Given the description of an element on the screen output the (x, y) to click on. 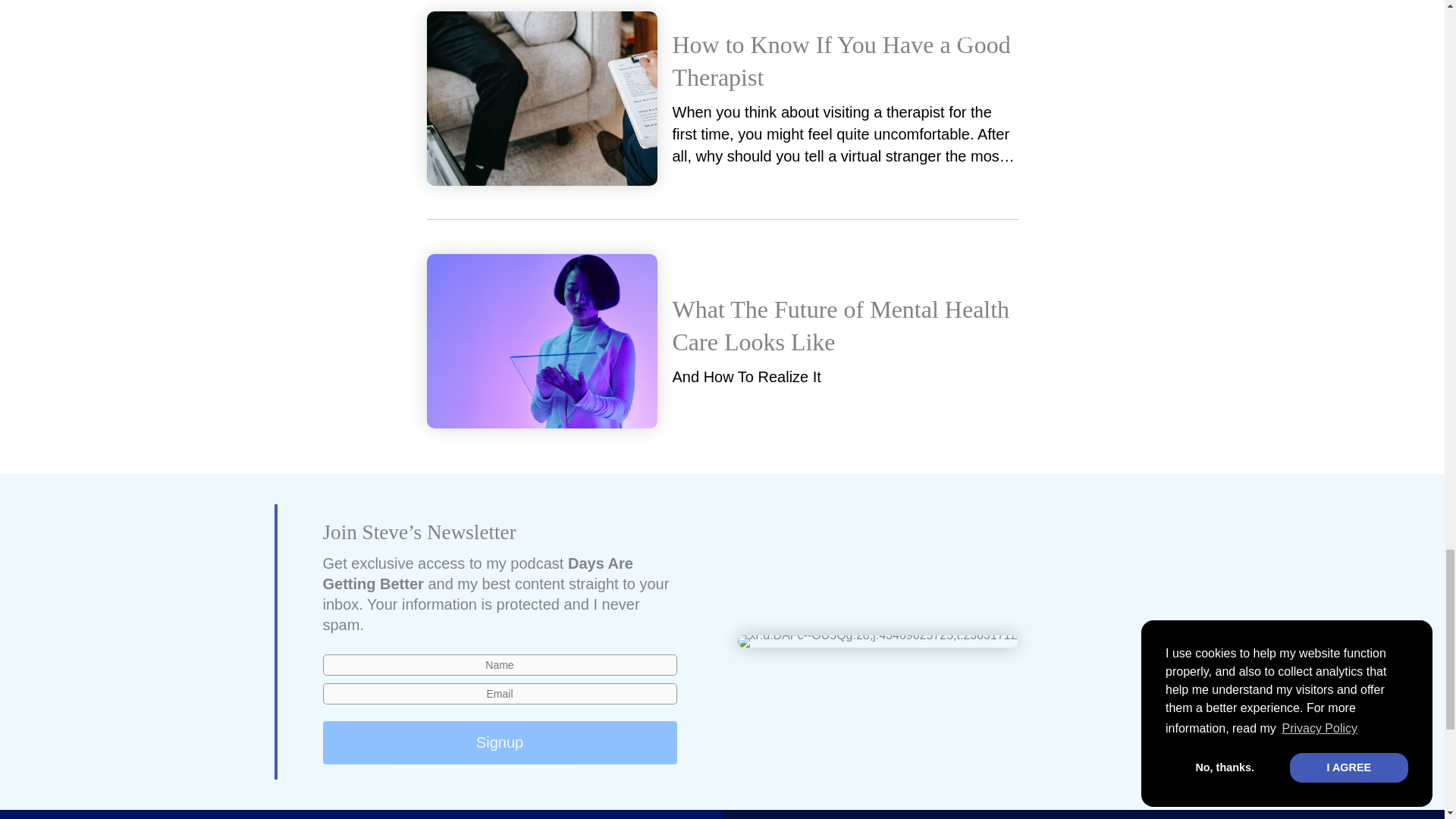
xr:d:DAFc--GU5Qg:28,j:43469625725,t:23031712 (876, 641)
Signup (500, 742)
